Given the description of an element on the screen output the (x, y) to click on. 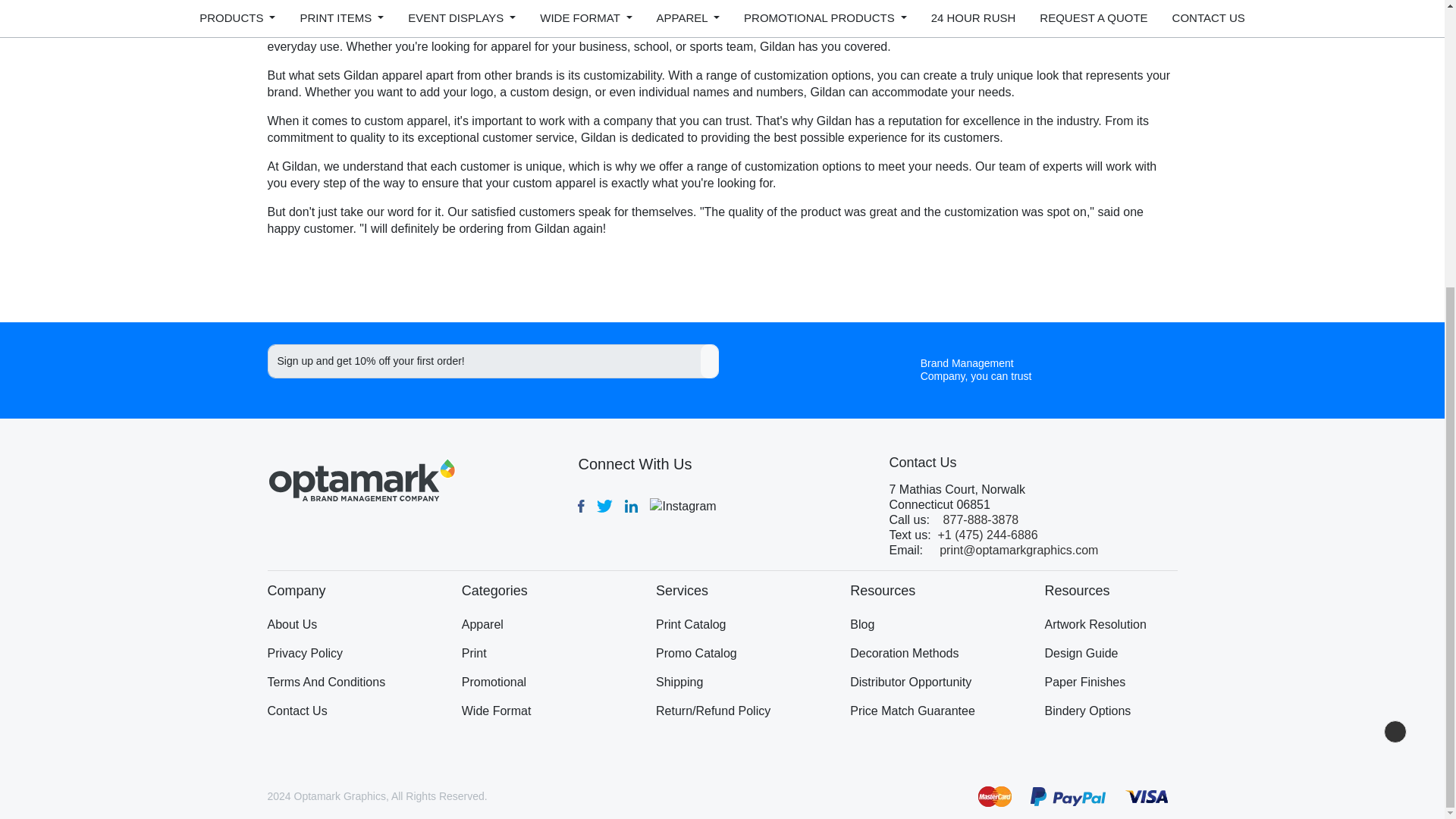
promotional (493, 682)
email (1017, 549)
privacy (304, 653)
instagram (682, 505)
about (291, 624)
terms (325, 682)
apparel (482, 624)
8778883878 (977, 519)
confidence (296, 710)
